Given the description of an element on the screen output the (x, y) to click on. 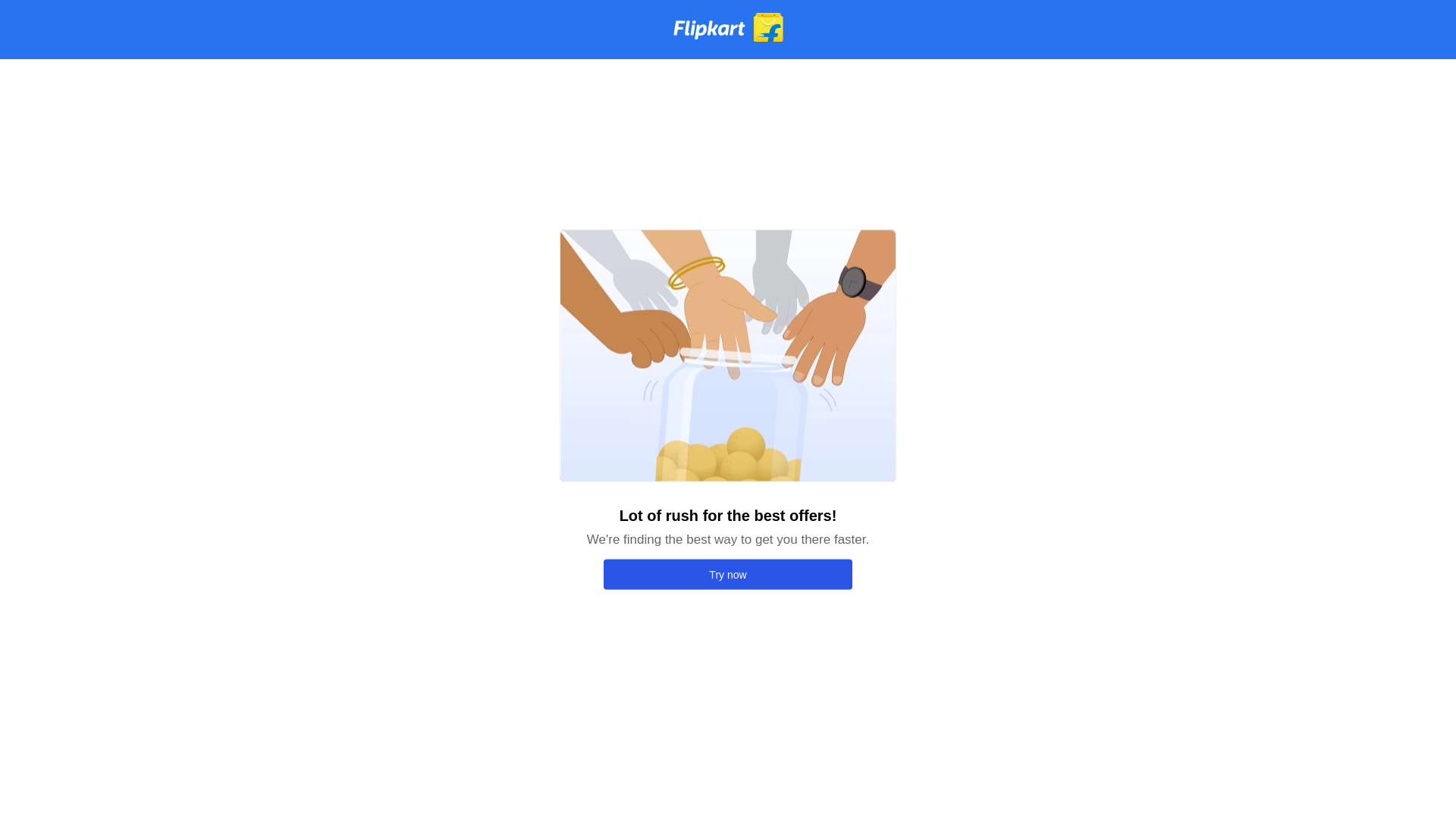
Try now (727, 574)
